Given the description of an element on the screen output the (x, y) to click on. 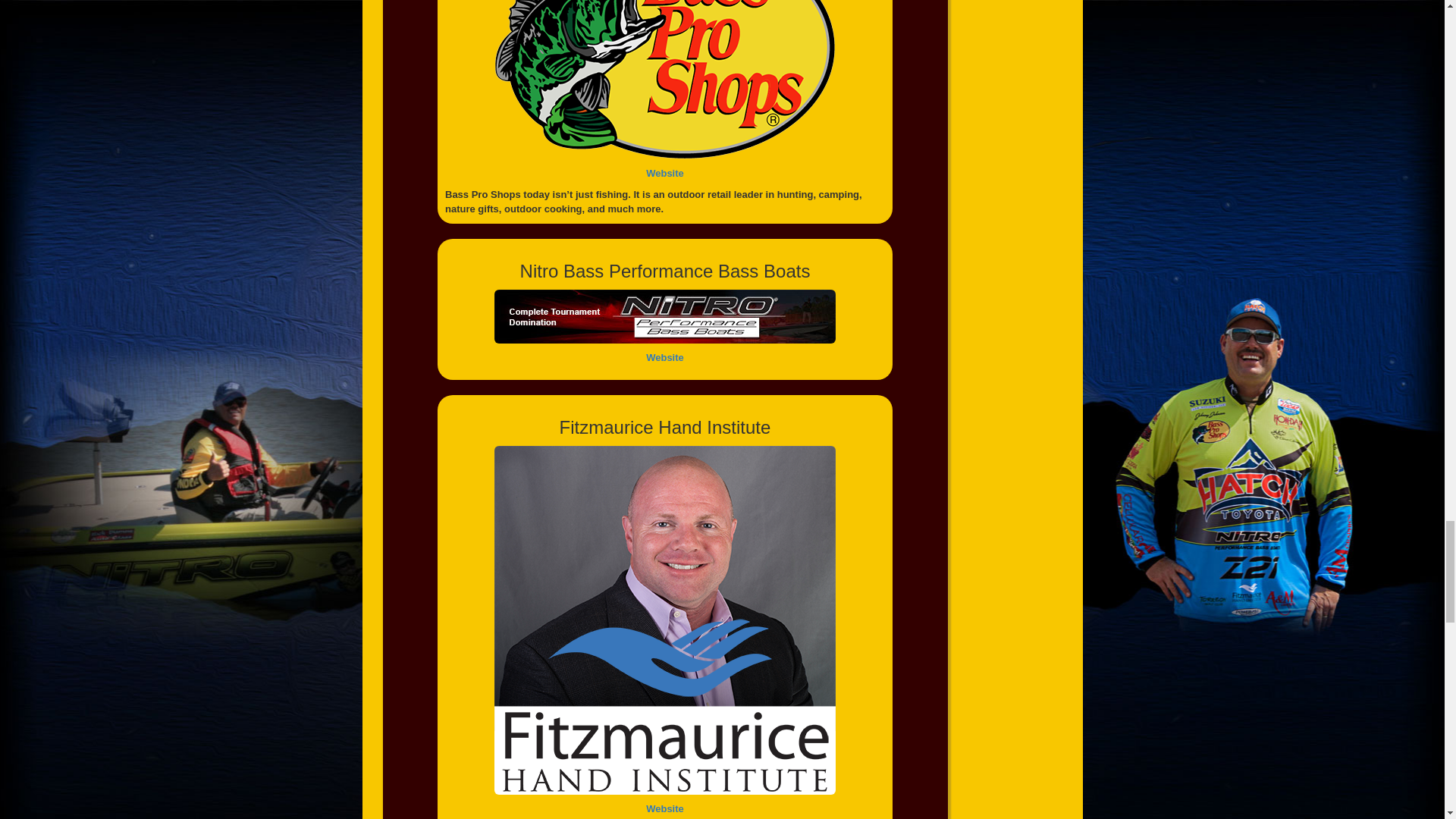
Website (665, 357)
Website (665, 808)
Website (665, 173)
